Given the description of an element on the screen output the (x, y) to click on. 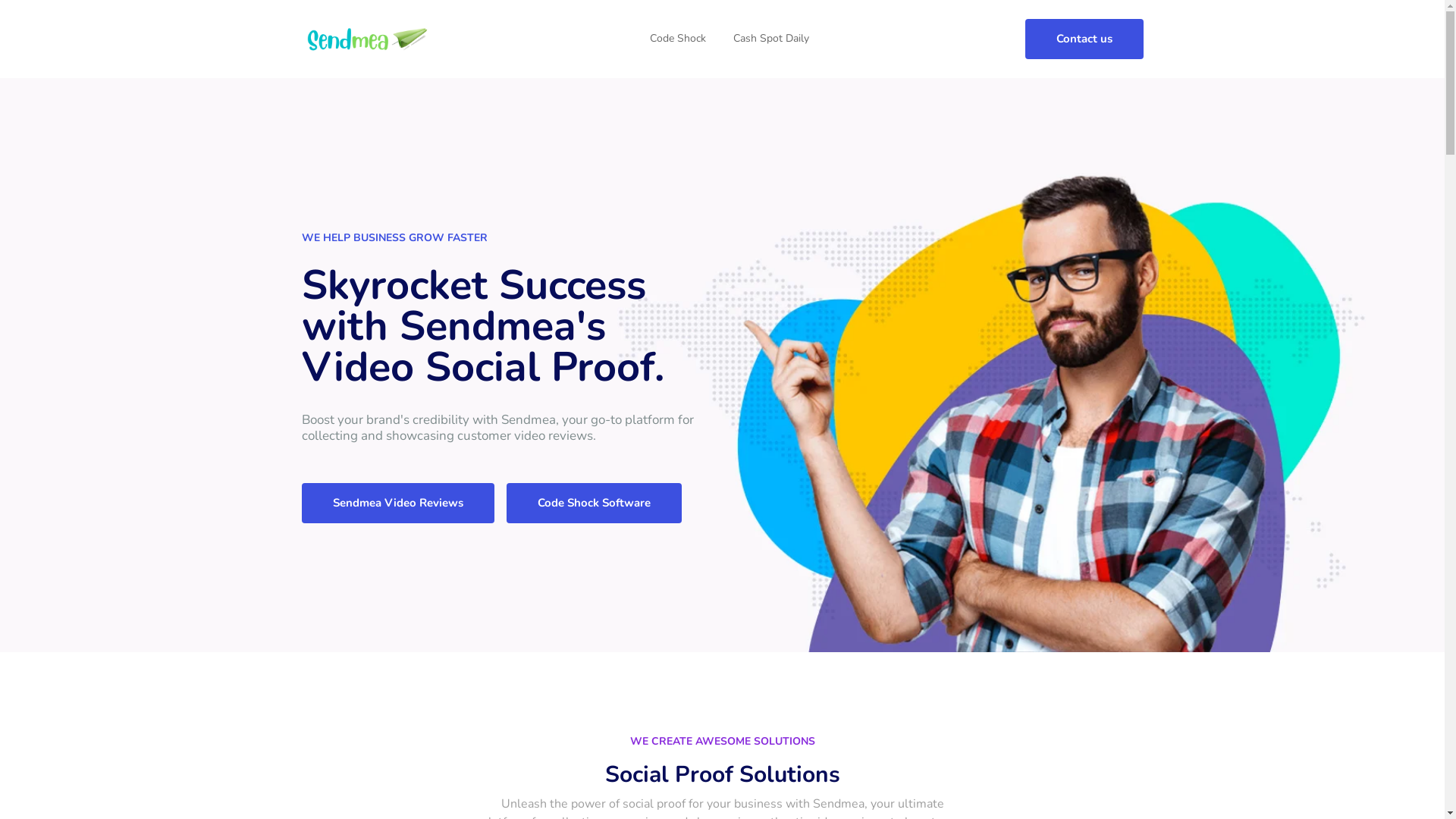
Contact us Element type: text (1084, 38)
Code Shock Software Element type: text (593, 503)
Code Shock Element type: text (677, 38)
Sendmea Video Reviews Element type: text (397, 503)
Cash Spot Daily Element type: text (771, 38)
